Given the description of an element on the screen output the (x, y) to click on. 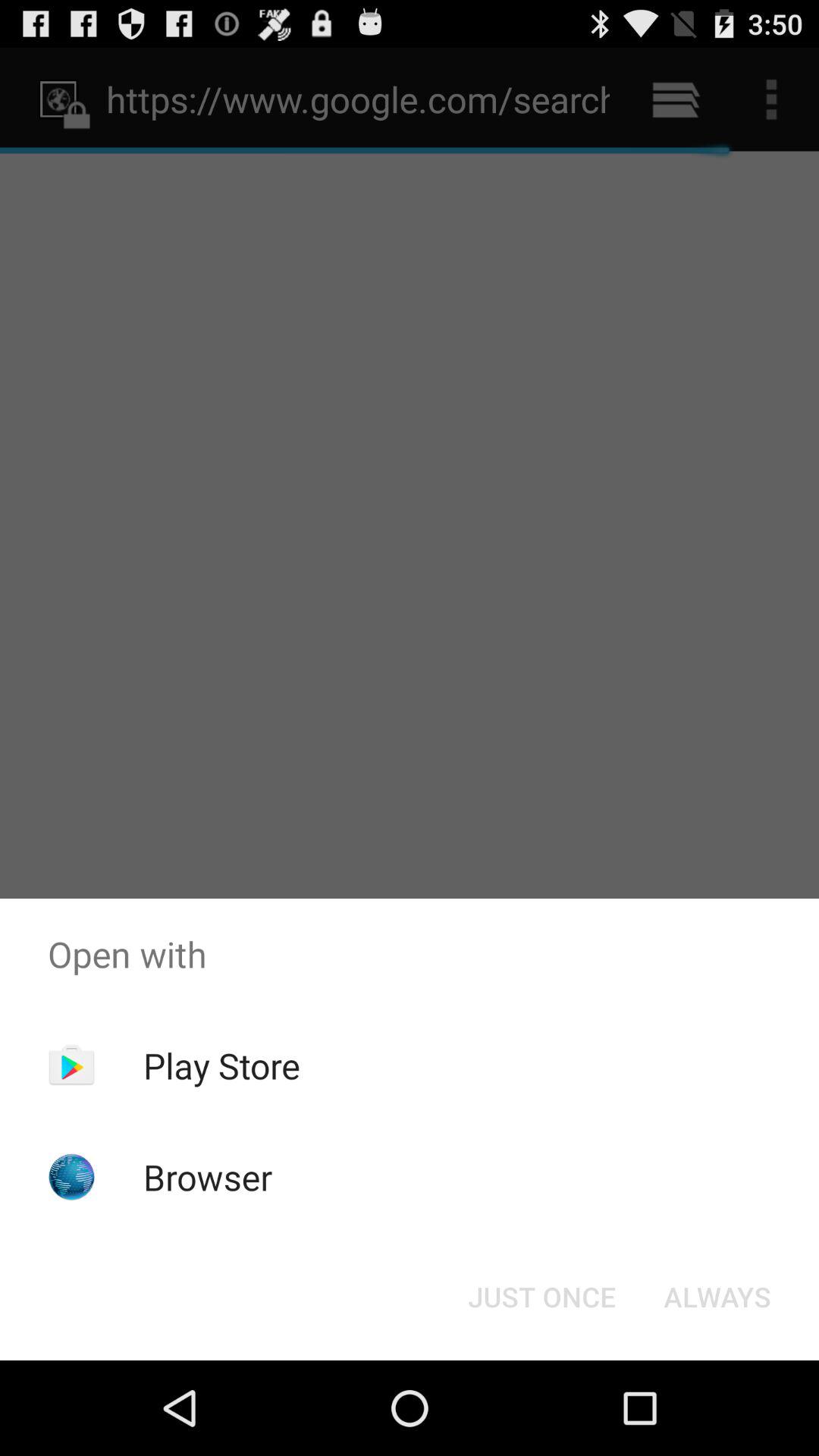
turn off item next to the always icon (541, 1296)
